Given the description of an element on the screen output the (x, y) to click on. 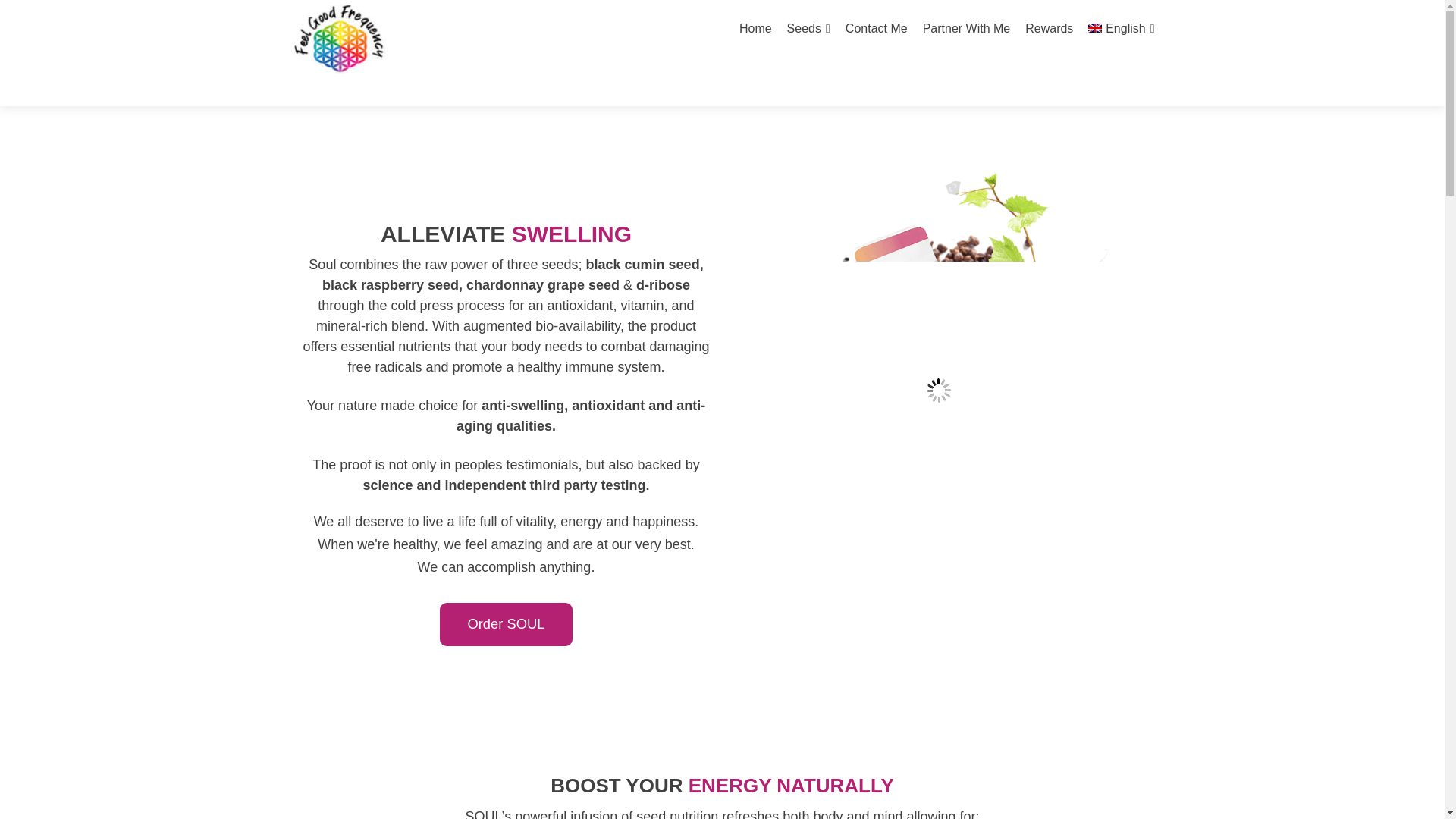
Partner With Me (966, 28)
Seeds (808, 28)
English (1120, 28)
English (1120, 28)
Home (755, 28)
Contact Me (876, 28)
Rewards (1049, 28)
Order SOUL (506, 624)
